Given the description of an element on the screen output the (x, y) to click on. 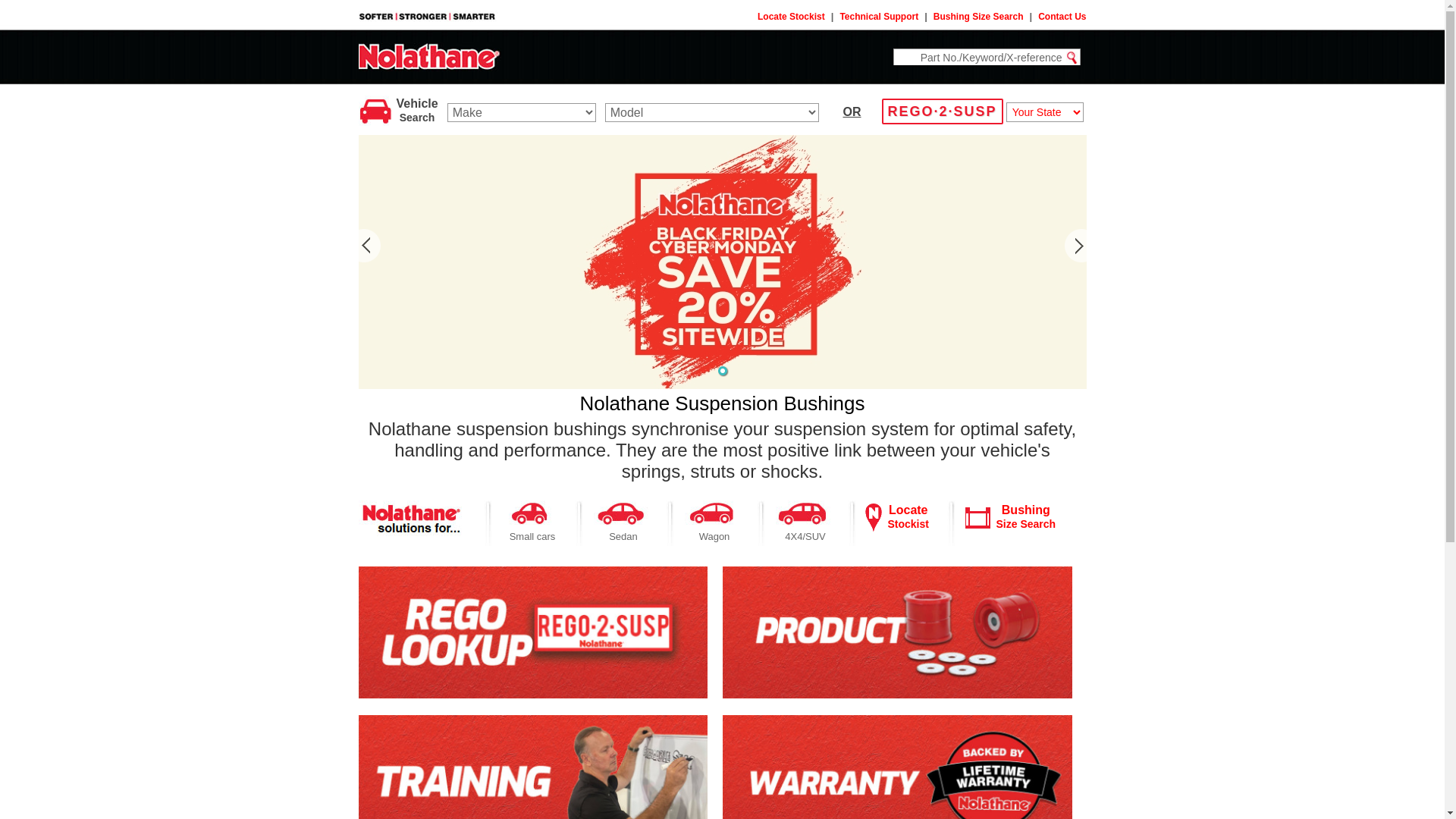
Bushing Size Search Element type: text (978, 16)
Bushing Size Search Element type: hover (977, 517)
Locate Stockist Element type: text (791, 16)
Small cars Element type: text (532, 536)
Locate
Stockist Element type: text (907, 516)
Part No./Keyword/X-reference Element type: text (978, 56)
Wagon Element type: text (714, 536)
4X4/SUV Element type: text (804, 536)
Contact Us Element type: text (1061, 16)
Technical Support Element type: text (878, 16)
Sedan Element type: text (622, 536)
Bushing
Size Search Element type: text (1026, 516)
